Given the description of an element on the screen output the (x, y) to click on. 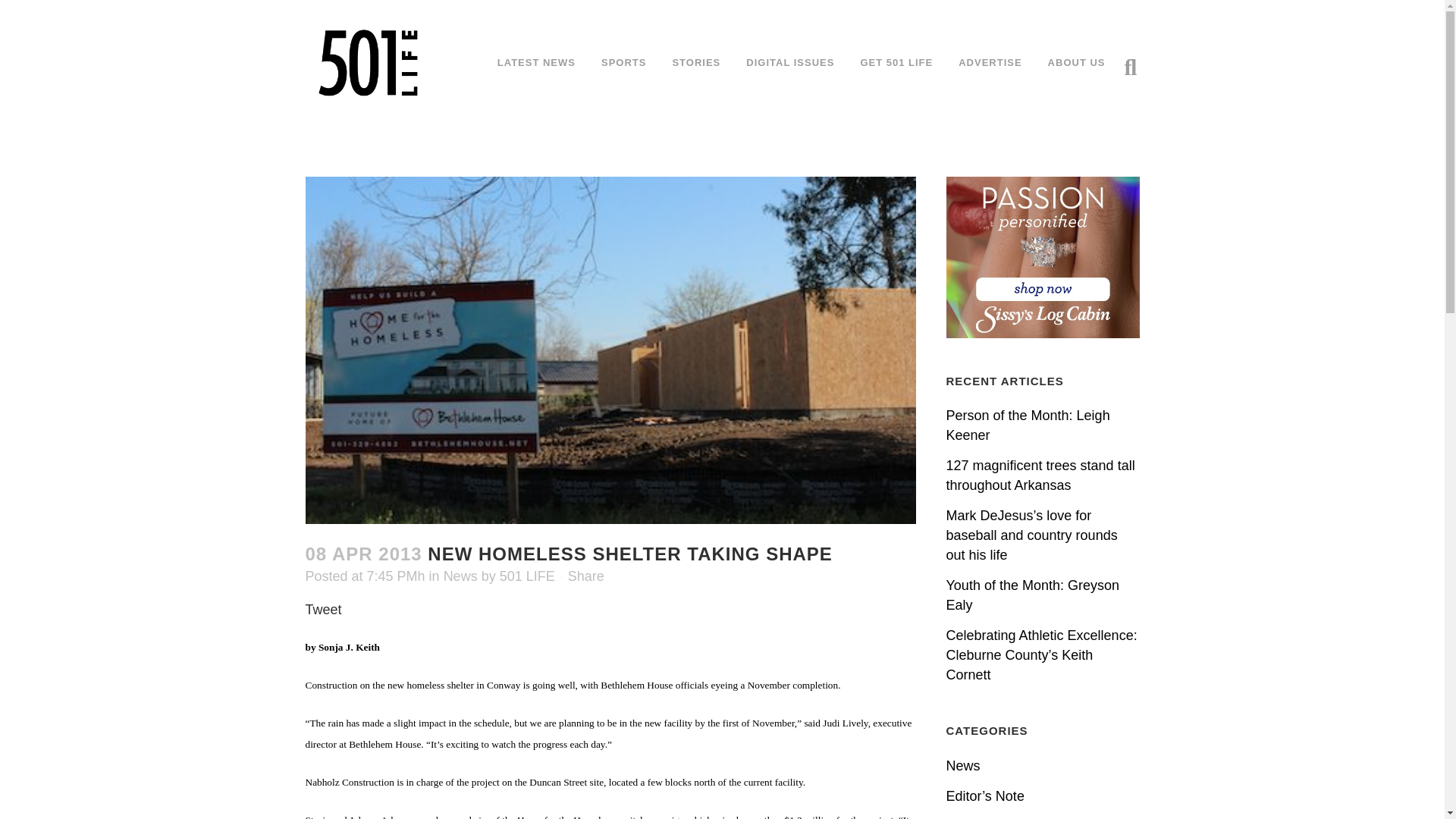
ABOUT US (1076, 62)
SPORTS (623, 62)
DIGITAL ISSUES (790, 62)
LATEST NEWS (536, 62)
GET 501 LIFE (895, 62)
ADVERTISE (988, 62)
STORIES (696, 62)
